Given the description of an element on the screen output the (x, y) to click on. 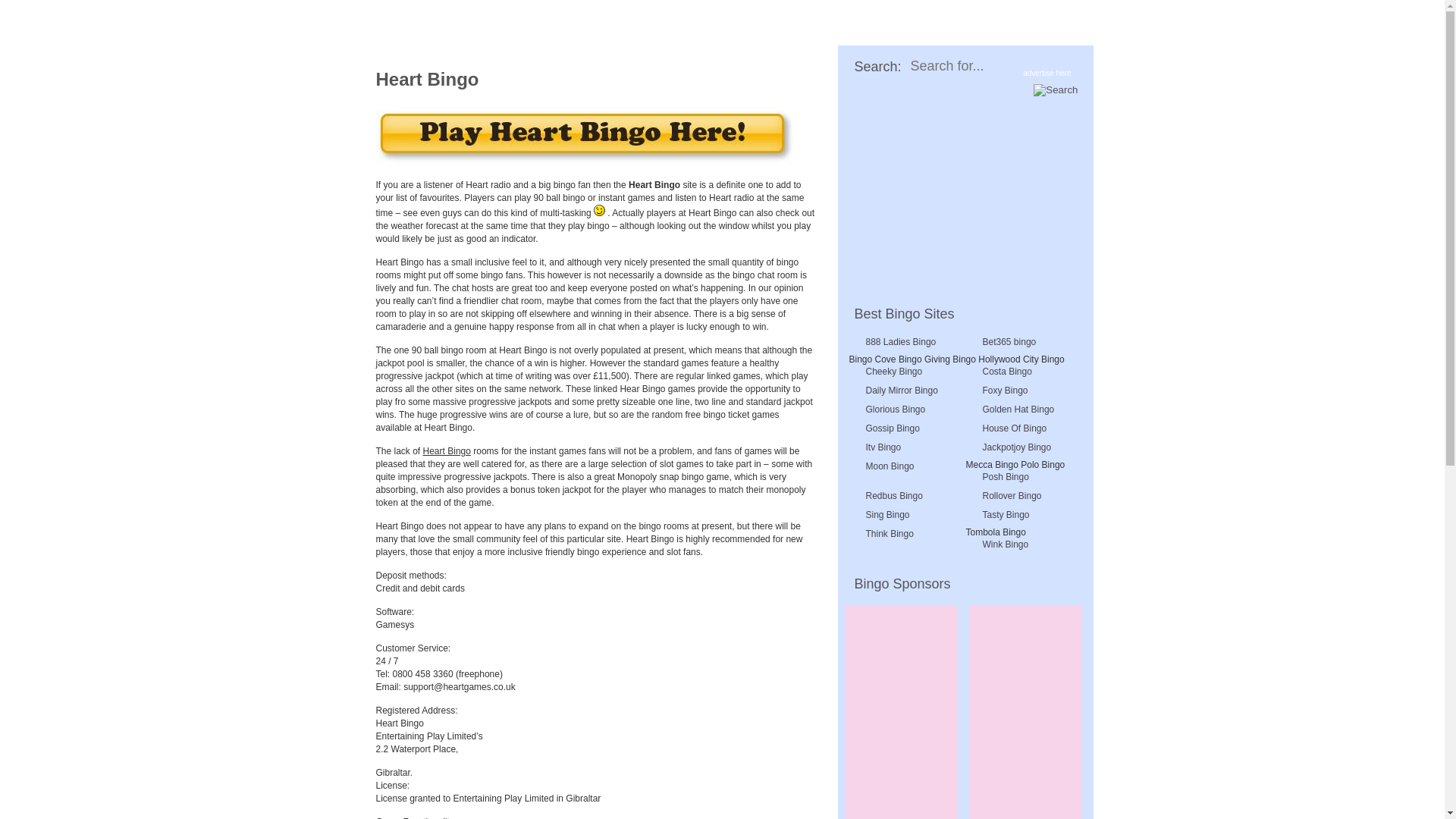
advertise here (1046, 72)
Daily Mirror Bingo (902, 391)
Bingo Bonus (806, 103)
Bet365 bingo (1020, 341)
Gossip Bingo (902, 428)
Golden Hat Bingo (1020, 409)
Think Bingo (902, 534)
Cheeky Bingo (902, 371)
Sunlight Bingo (528, 56)
Sing Bingo (902, 514)
